Given the description of an element on the screen output the (x, y) to click on. 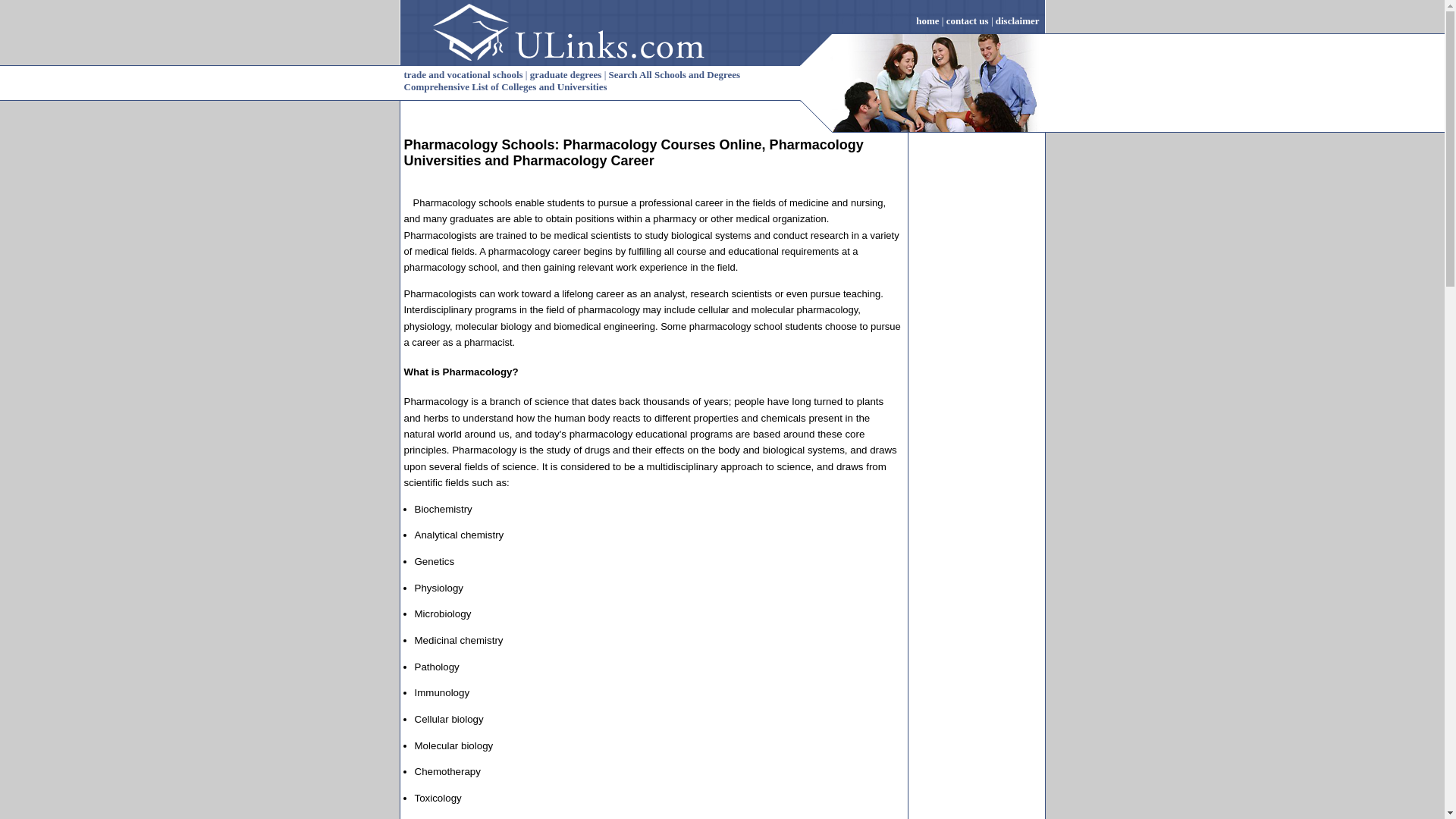
graduate degrees (565, 74)
Comprehensive List of Colleges and Universities (505, 86)
contact us (967, 20)
home (927, 20)
Search All Schools and Degrees (674, 74)
disclaimer   (1020, 19)
trade and vocational schools (462, 74)
